Given the description of an element on the screen output the (x, y) to click on. 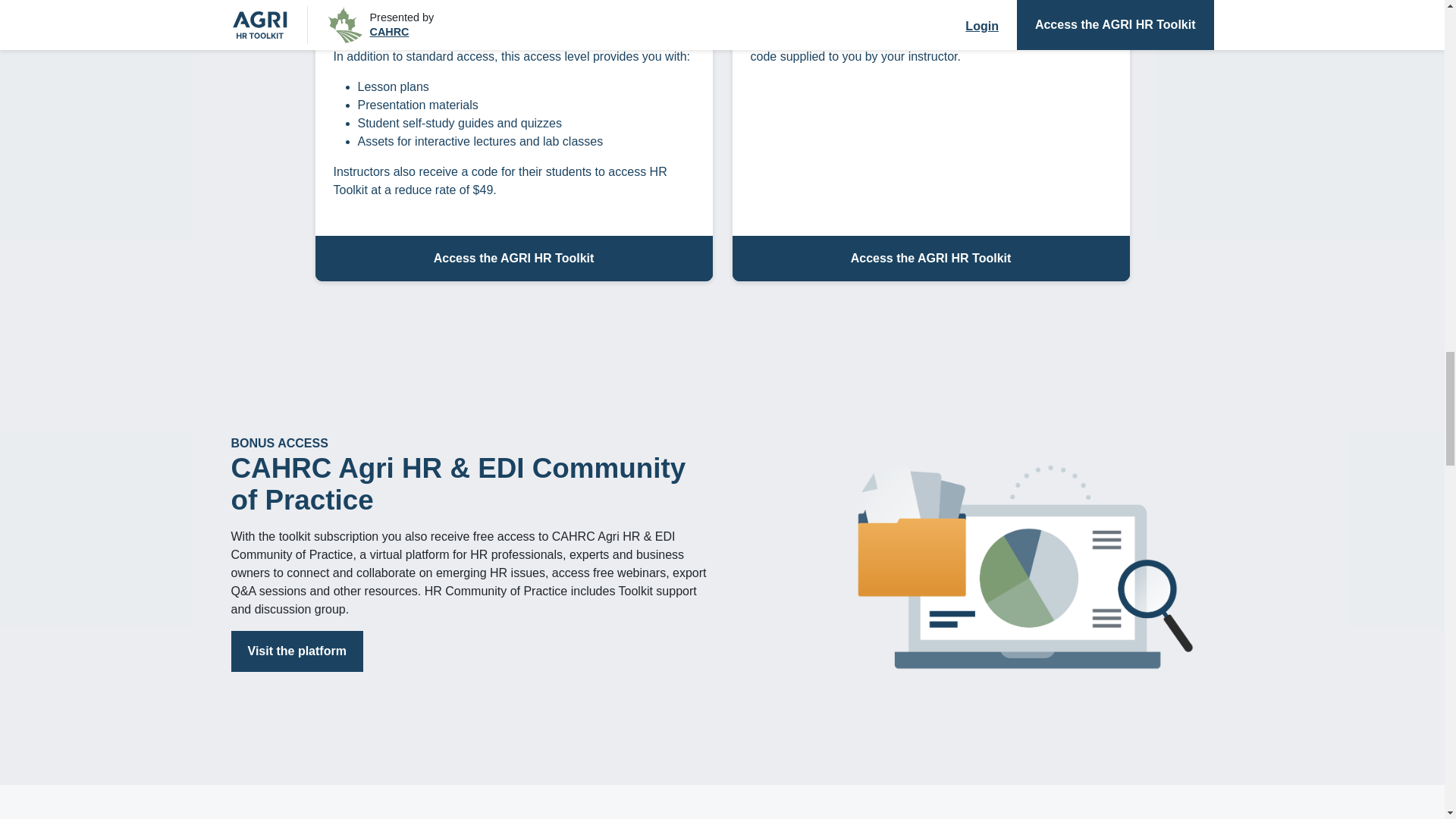
Access the AGRI HR Toolkit (930, 258)
Access the AGRI HR Toolkit (514, 258)
Visit the platform (296, 650)
